Given the description of an element on the screen output the (x, y) to click on. 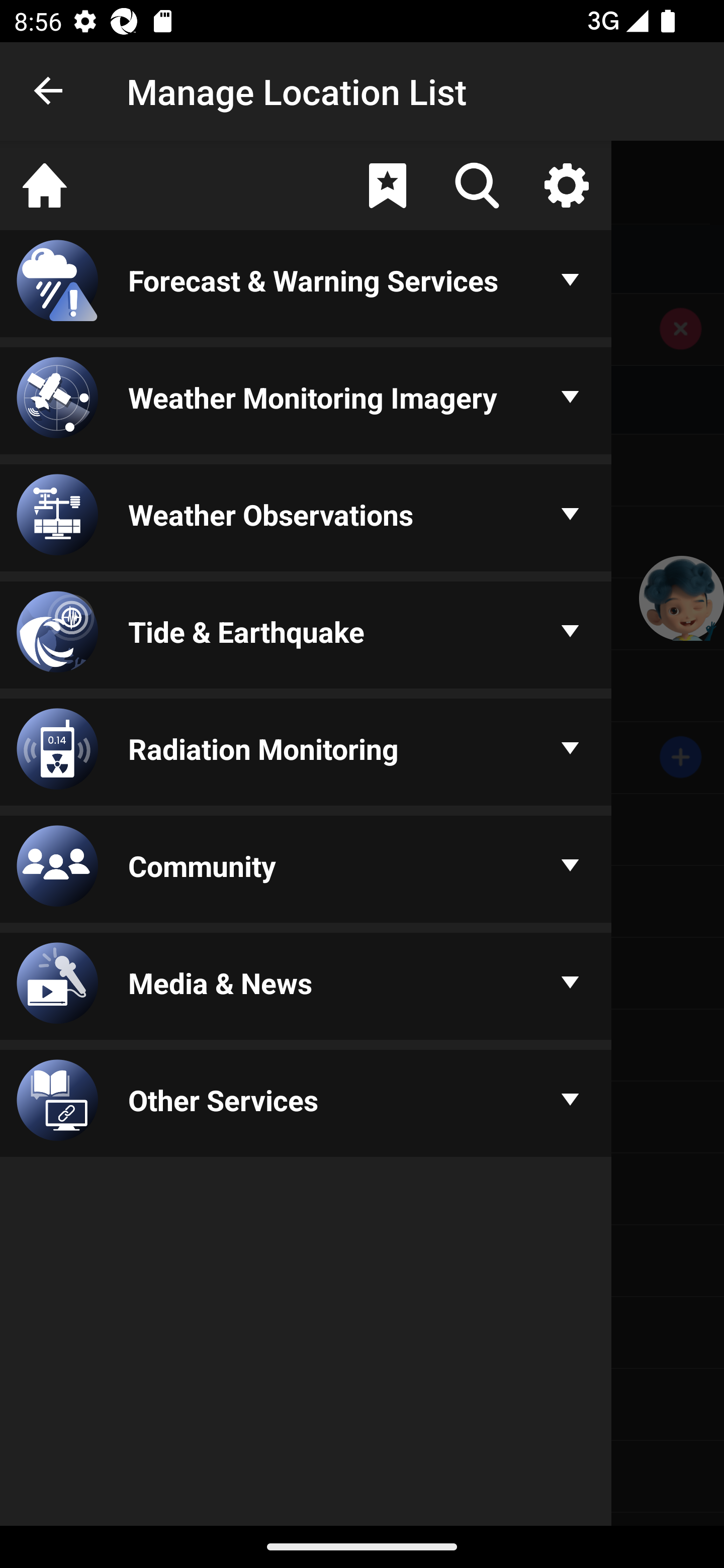
Navigate up (49, 91)
Homepage (44, 185)
Bookmark Manager (387, 185)
Search Unselected (477, 185)
Settings (566, 185)
Forecast & Warning Services Collapsed (305, 285)
Weather Monitoring Imagery Collapsed (305, 401)
Weather Observations Collapsed (305, 518)
Tide & Earthquake Collapsed (305, 636)
Radiation Monitoring Collapsed (305, 753)
Community Collapsed (305, 870)
Media & News Collapsed (305, 987)
Other Services Collapsed (305, 1104)
